Given the description of an element on the screen output the (x, y) to click on. 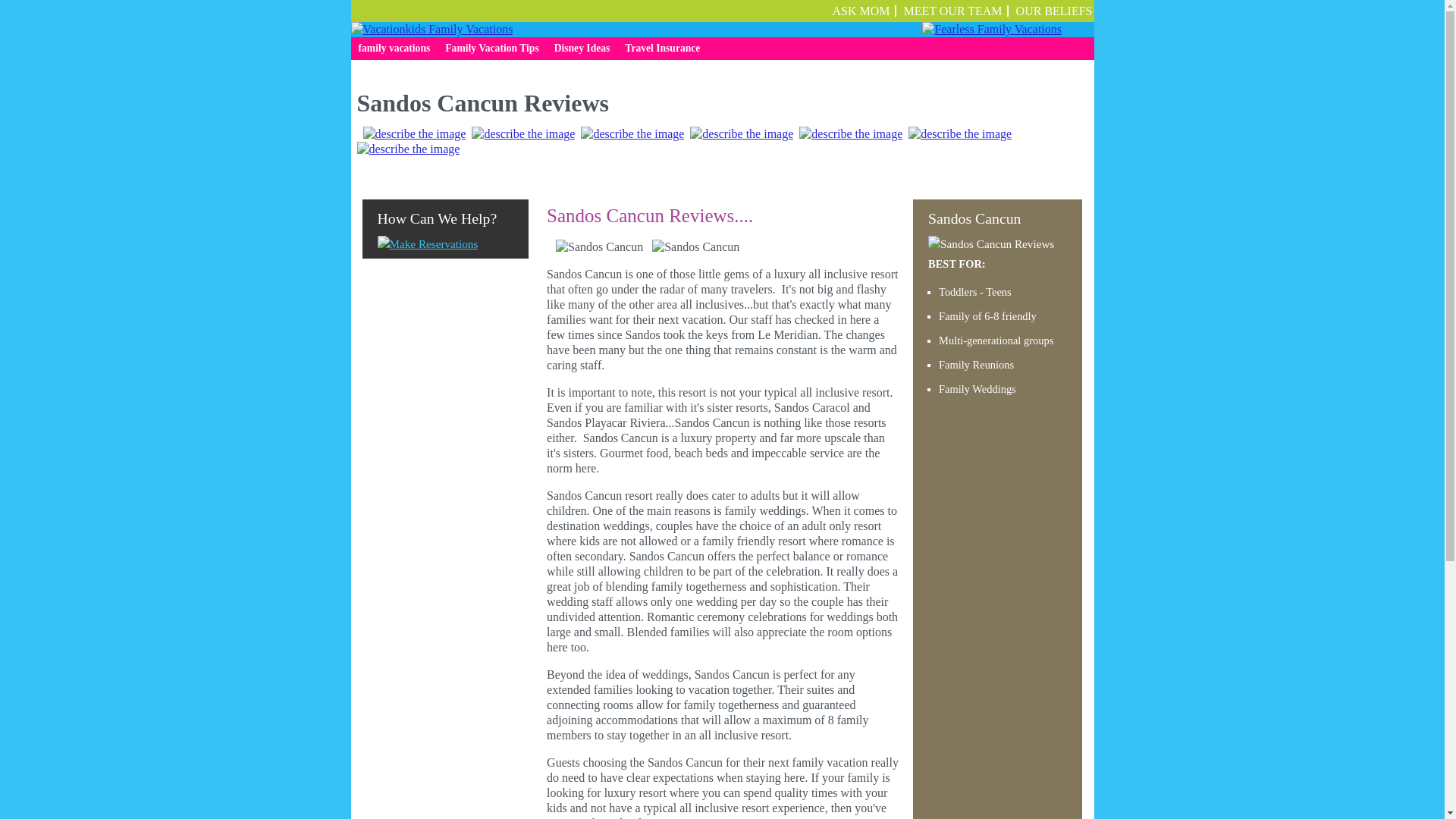
MEET OUR TEAM (953, 10)
Vacationkids Family Vacations (431, 29)
Fearless Family Vacations  (991, 29)
ASK MOM (860, 10)
family vacations (394, 47)
OUR BELIEFS (1054, 10)
